Given the description of an element on the screen output the (x, y) to click on. 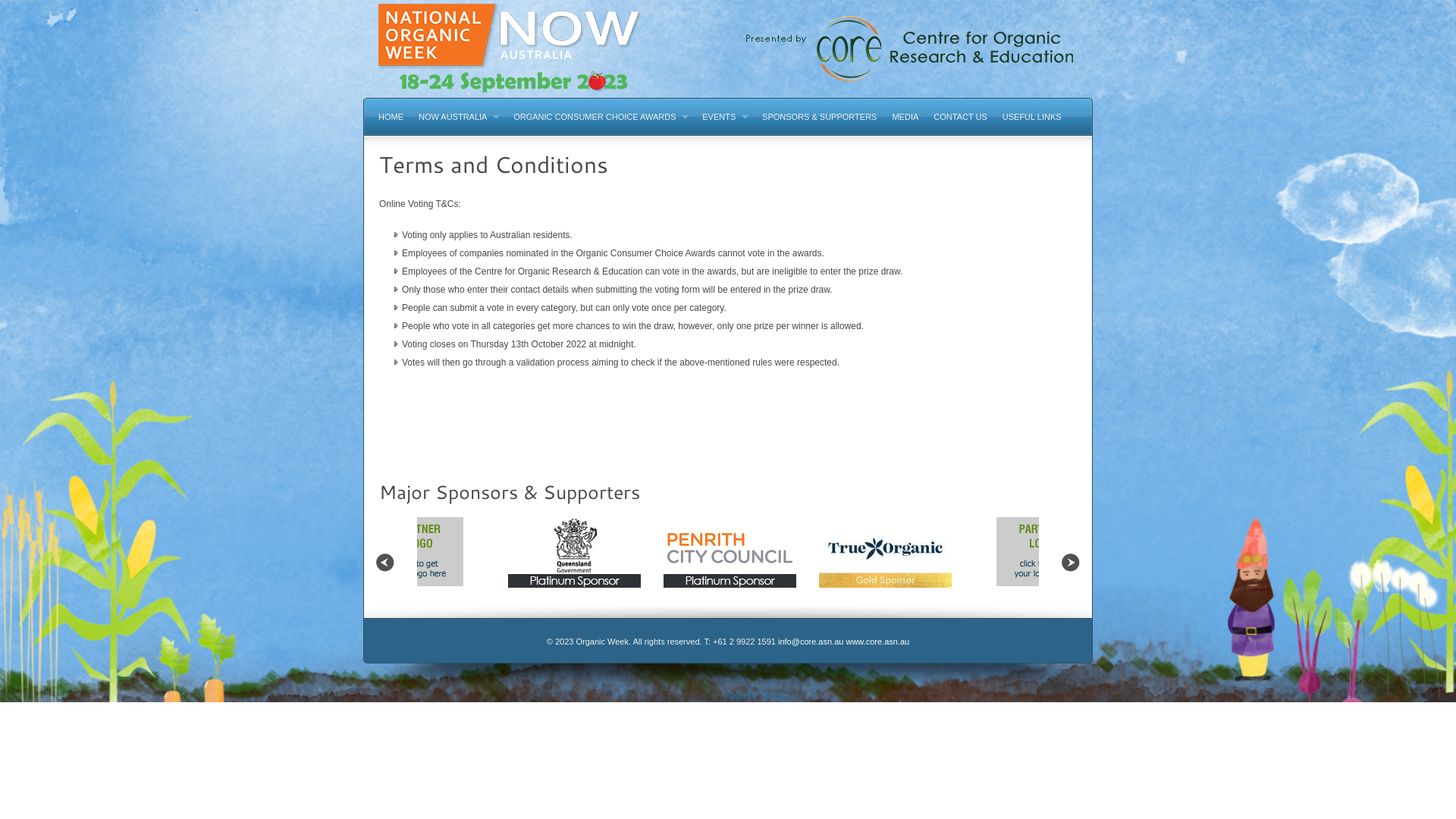
CONTACT US Element type: text (959, 115)
www.core.asn.au Element type: text (877, 641)
USEFUL LINKS Element type: text (1031, 115)
SPONSORS & SUPPORTERS Element type: text (819, 115)
MEDIA Element type: text (904, 115)
info@core.asn.au Element type: text (810, 641)
HOME Element type: text (390, 115)
Appleby Design Element type: text (756, 695)
